Given the description of an element on the screen output the (x, y) to click on. 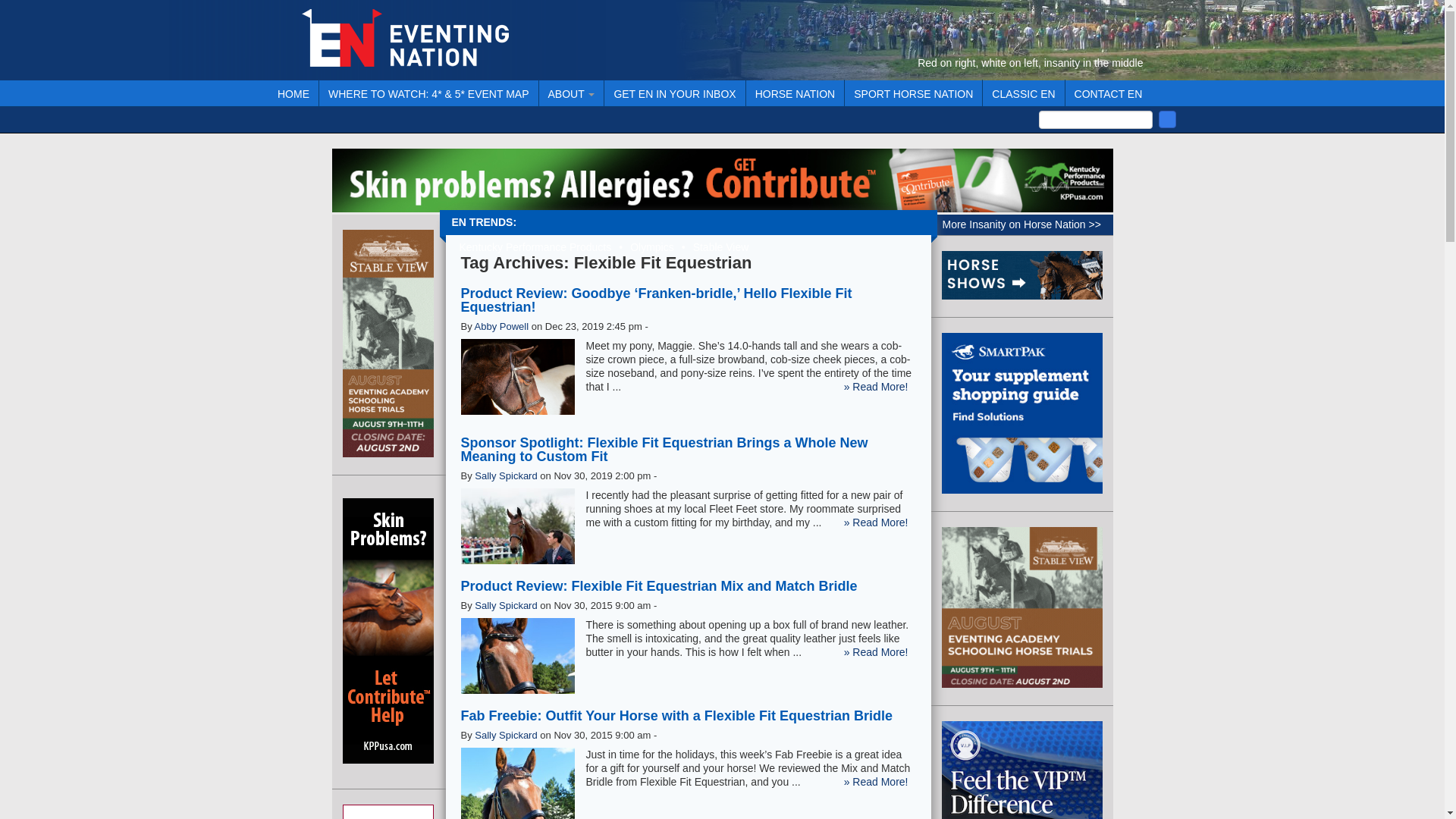
Sport Horse Nation (912, 93)
Sally Spickard (505, 604)
GET EN IN YOUR INBOX (674, 93)
Product Review: Flexible Fit Equestrian Mix and Match Bridle (659, 585)
Contact EN (1108, 93)
Abby Powell (501, 326)
Stable View (721, 247)
Olympics (652, 247)
Sally Spickard (505, 475)
Home (292, 93)
SPORT HORSE NATION (912, 93)
Horse Nation (794, 93)
HORSE NATION (794, 93)
Posts by Abby Powell (501, 326)
